Given the description of an element on the screen output the (x, y) to click on. 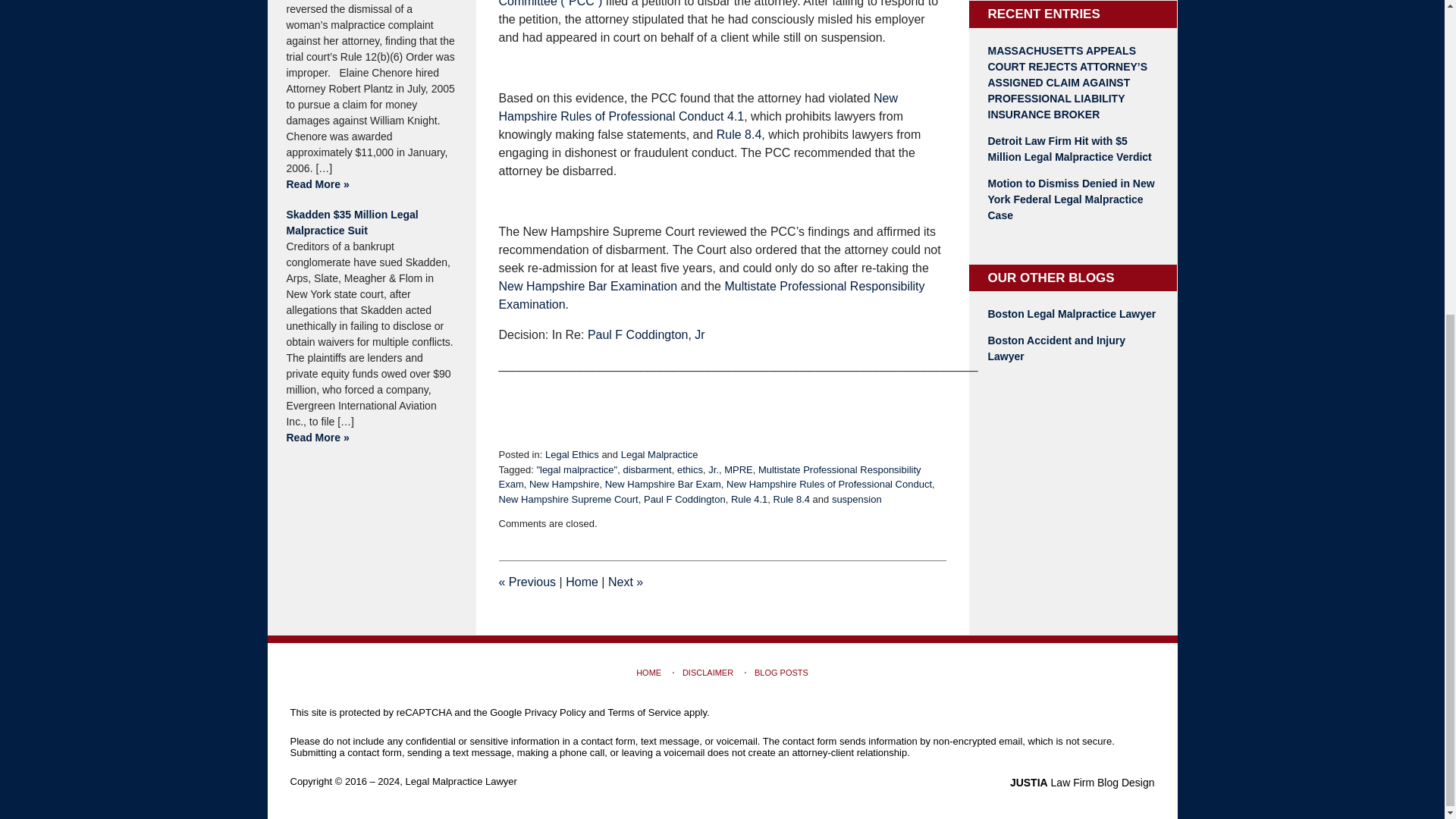
Paul F Coddington (684, 499)
View all posts tagged with Jr. (713, 469)
Rule 8.4 (791, 499)
View all posts tagged with Rule 8.4 (791, 499)
Jr. (713, 469)
MPRE (737, 469)
View all posts tagged with Paul F Coddington (684, 499)
"legal malpractice" (576, 469)
